Given the description of an element on the screen output the (x, y) to click on. 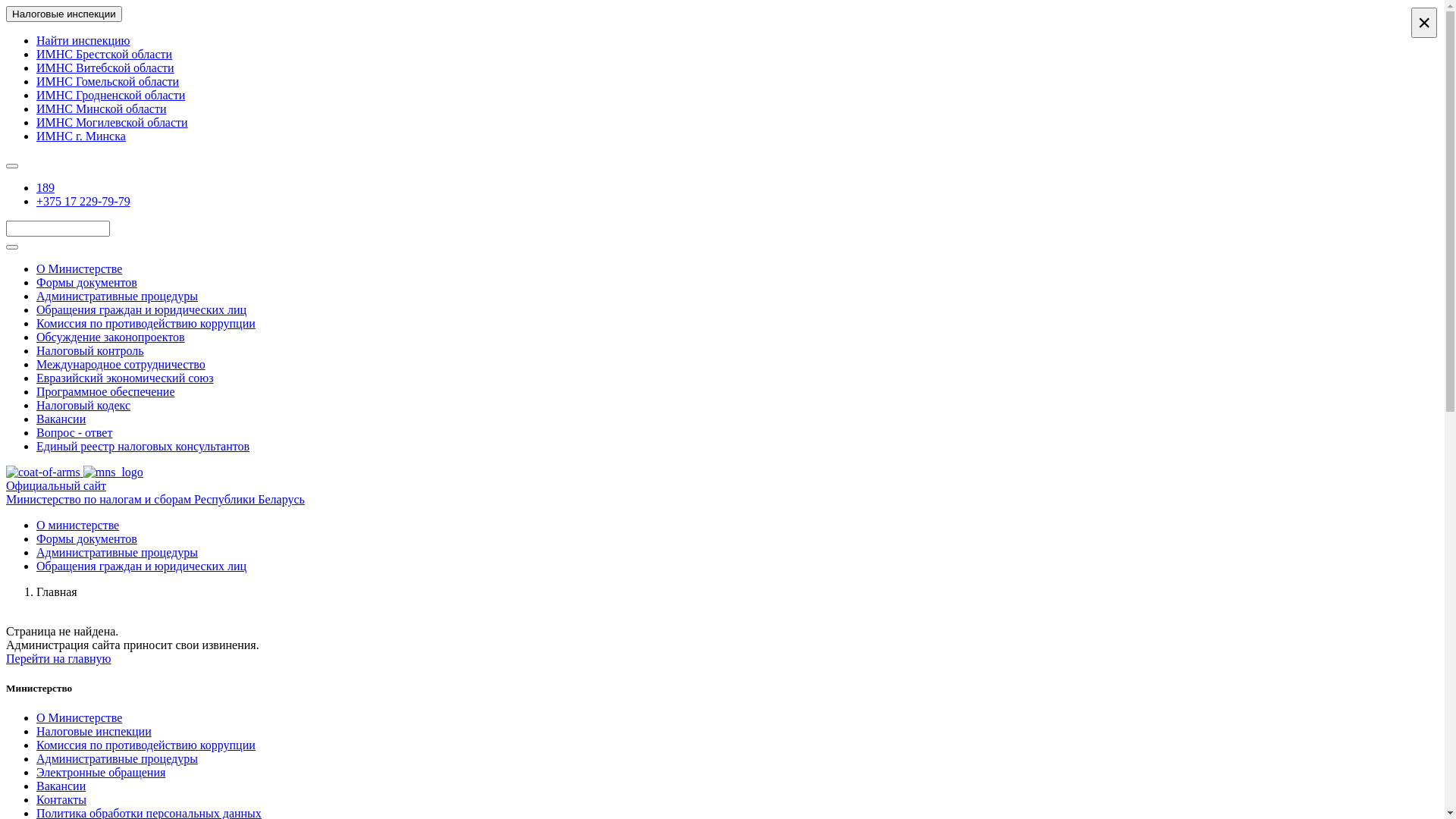
189 Element type: text (45, 187)
+375 17 229-79-79 Element type: text (83, 200)
